Given the description of an element on the screen output the (x, y) to click on. 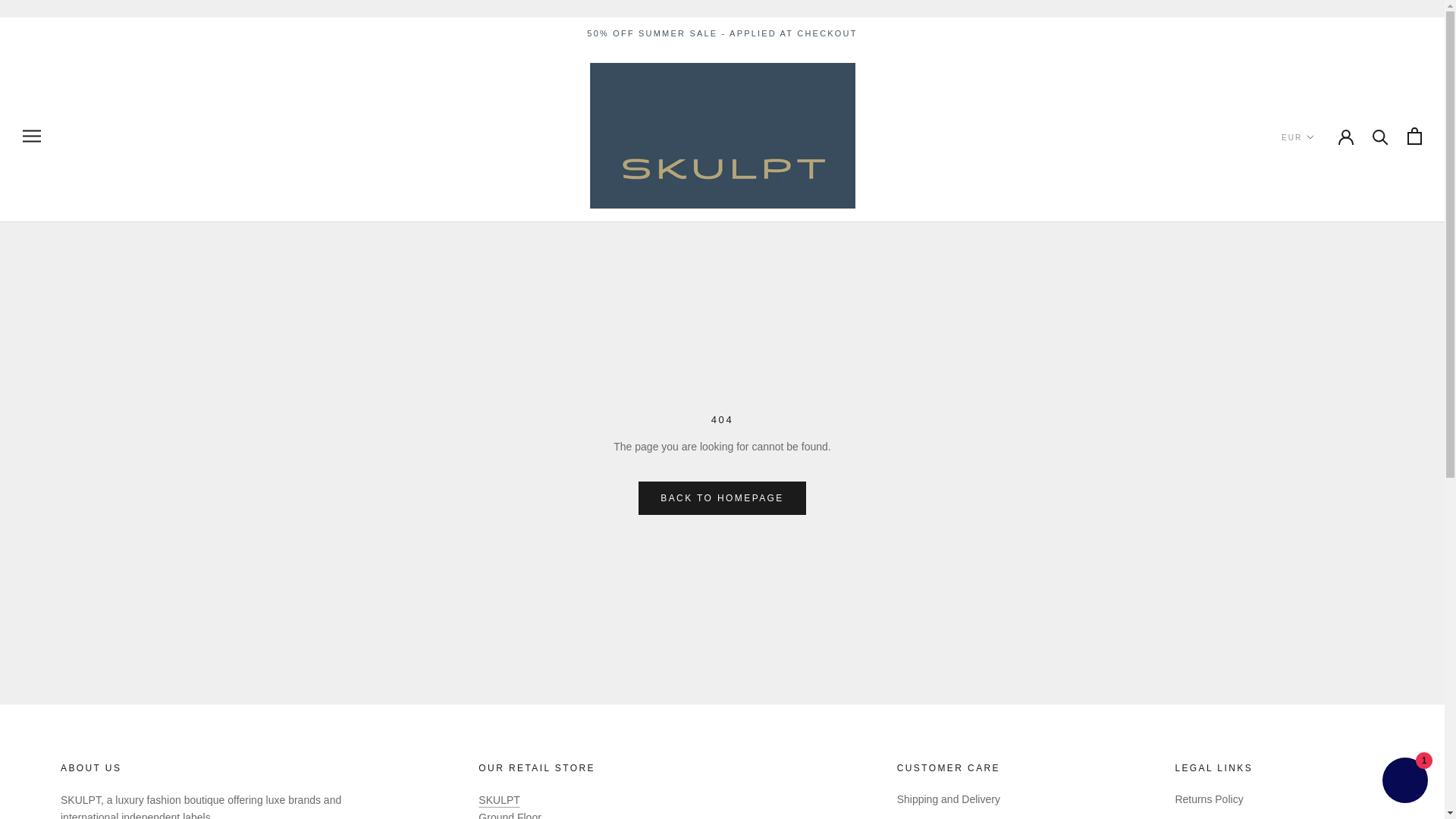
Shopify online store chat (1404, 781)
Currency selector (1297, 137)
